Given the description of an element on the screen output the (x, y) to click on. 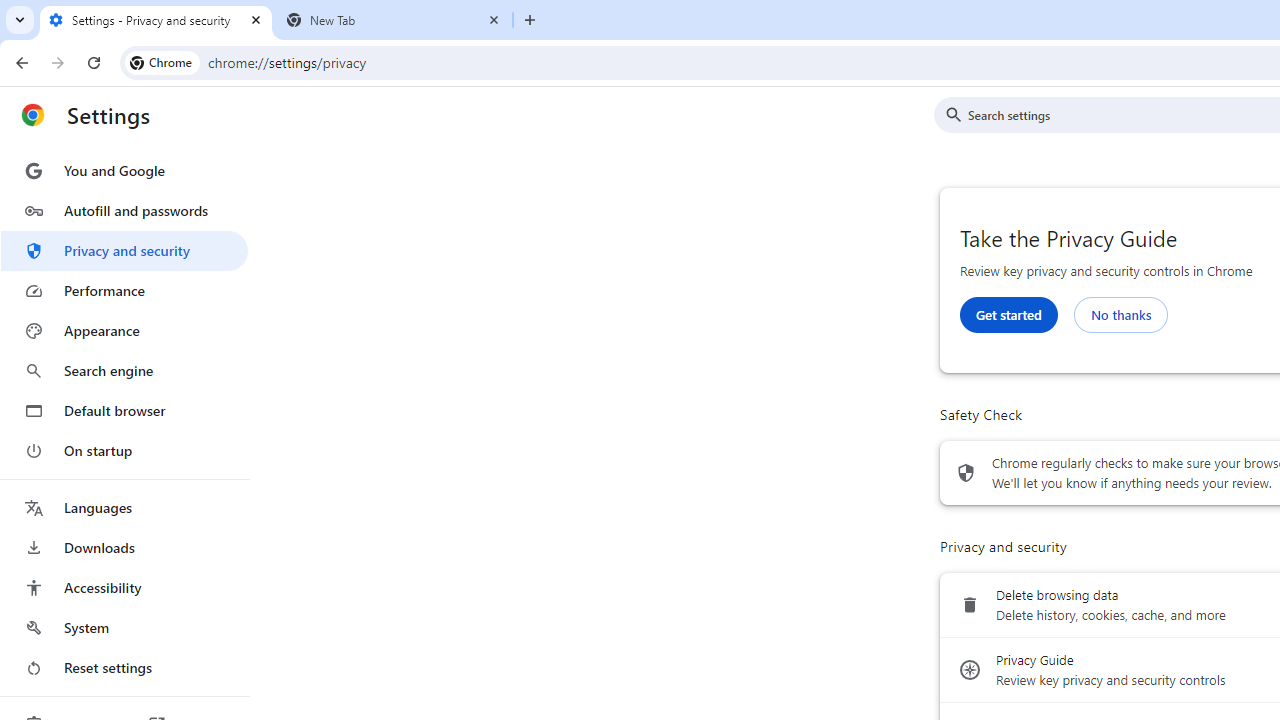
Privacy and security (124, 250)
New Tab (394, 20)
Accessibility (124, 587)
No thanks (1120, 313)
Downloads (124, 547)
On startup (124, 450)
Get started (1008, 313)
Languages (124, 507)
Autofill and passwords (124, 210)
